Given the description of an element on the screen output the (x, y) to click on. 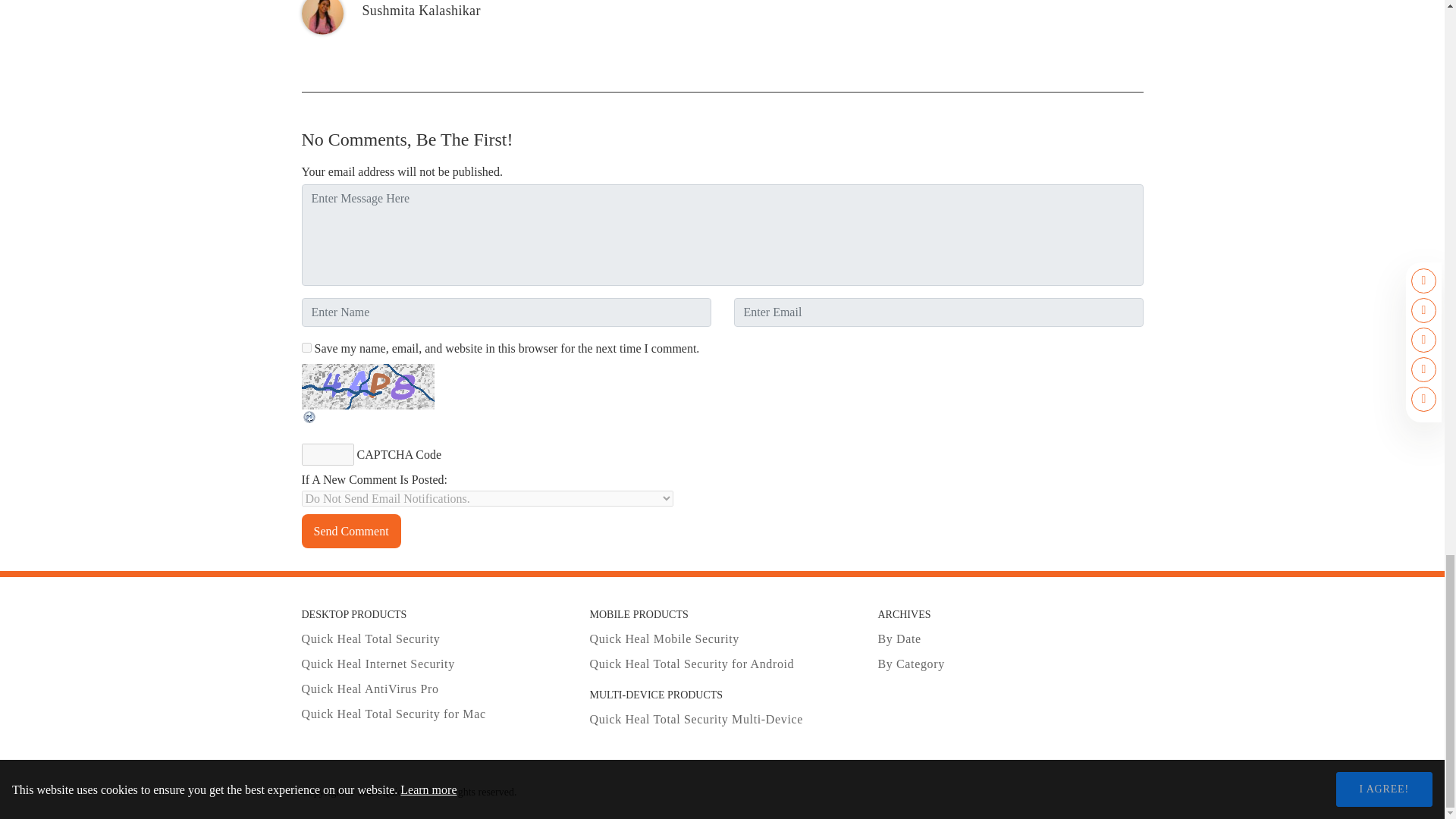
Send Comment (351, 530)
yes (306, 347)
